Given the description of an element on the screen output the (x, y) to click on. 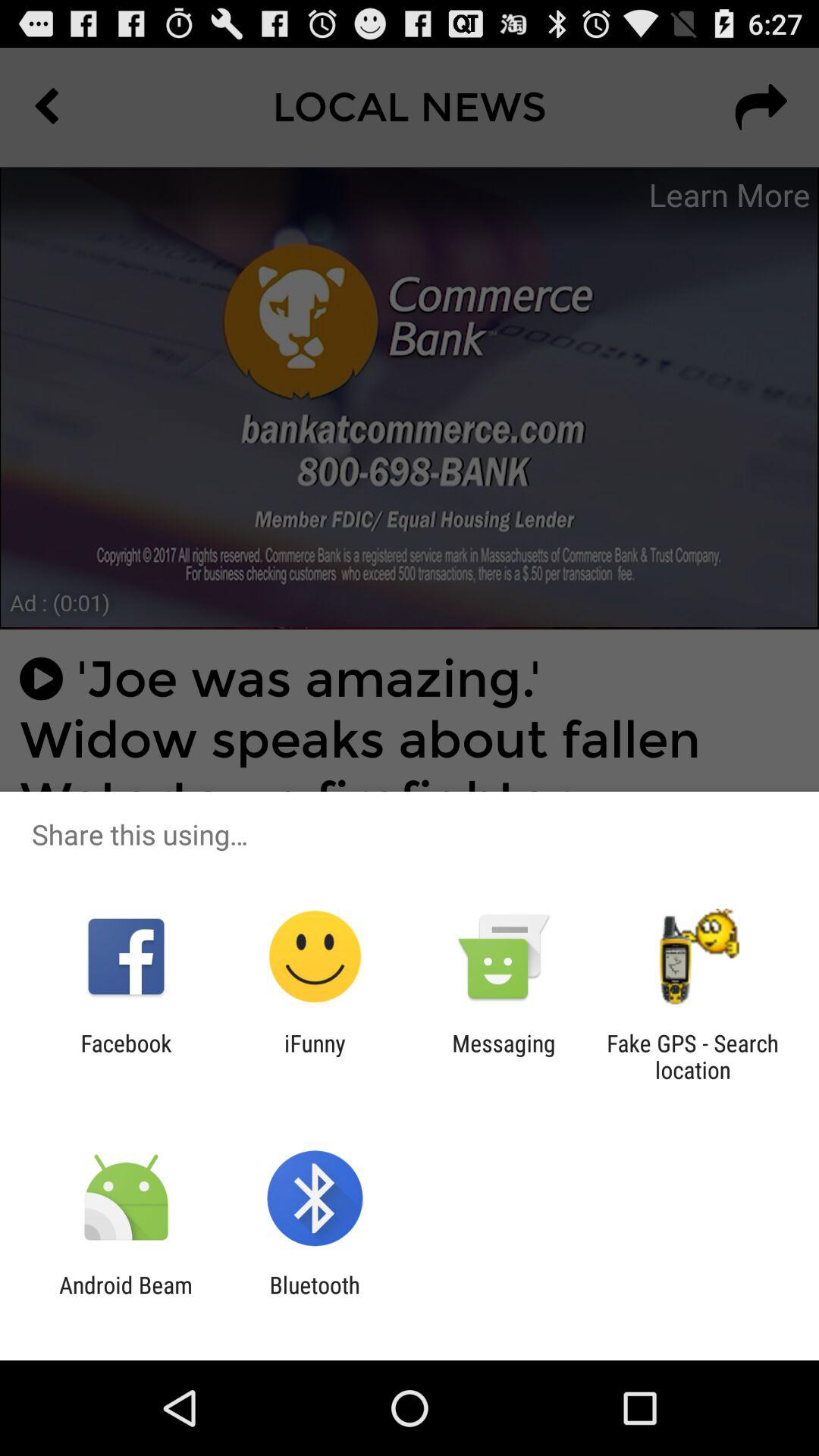
turn off facebook icon (125, 1056)
